Given the description of an element on the screen output the (x, y) to click on. 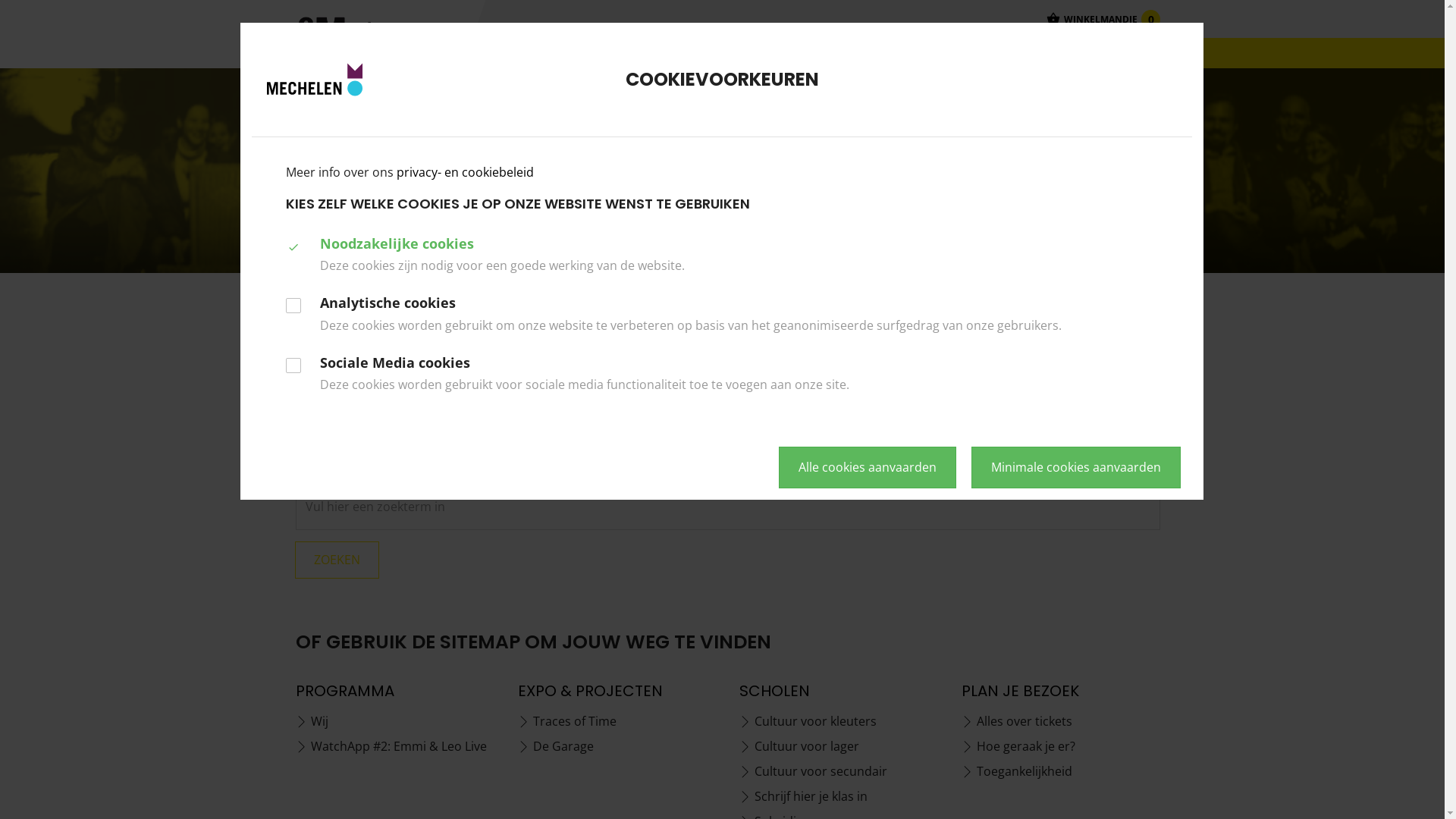
Cultuur voor kleuters Element type: text (838, 721)
PLAN JE BEZOEK Element type: text (1020, 690)
Minimale cookies aanvaarden Element type: text (1075, 467)
ZAALVERHUUR Element type: text (922, 52)
Cultuur voor lager Element type: text (838, 746)
ZOEKEN Element type: text (336, 559)
De Garage Element type: text (616, 746)
Home Element type: text (308, 255)
Wij Element type: text (395, 721)
SCHOLEN Element type: text (727, 52)
PLAN JE BEZOEK Element type: text (818, 52)
Cultuur voor secundair Element type: text (838, 771)
Traces of Time Element type: text (616, 721)
PROGRAMMA Element type: text (344, 690)
privacy- en cookiebeleid Element type: text (464, 171)
PROGRAMMA Element type: text (520, 52)
Hoe geraak je er? Element type: text (1061, 746)
EXPO & PROJECTEN Element type: text (589, 690)
WINKELMANDJE
0 Element type: text (1103, 18)
Alle cookies aanvaarden Element type: text (867, 467)
EXPO & PROJECTEN Element type: text (629, 52)
WatchApp #2: Emmi & Leo Live Element type: text (395, 746)
Alles over tickets Element type: text (1061, 721)
Schrijf hier je klas in Element type: text (838, 796)
Toegankelijkheid Element type: text (1061, 771)
SCHOLEN Element type: text (774, 690)
